Given the description of an element on the screen output the (x, y) to click on. 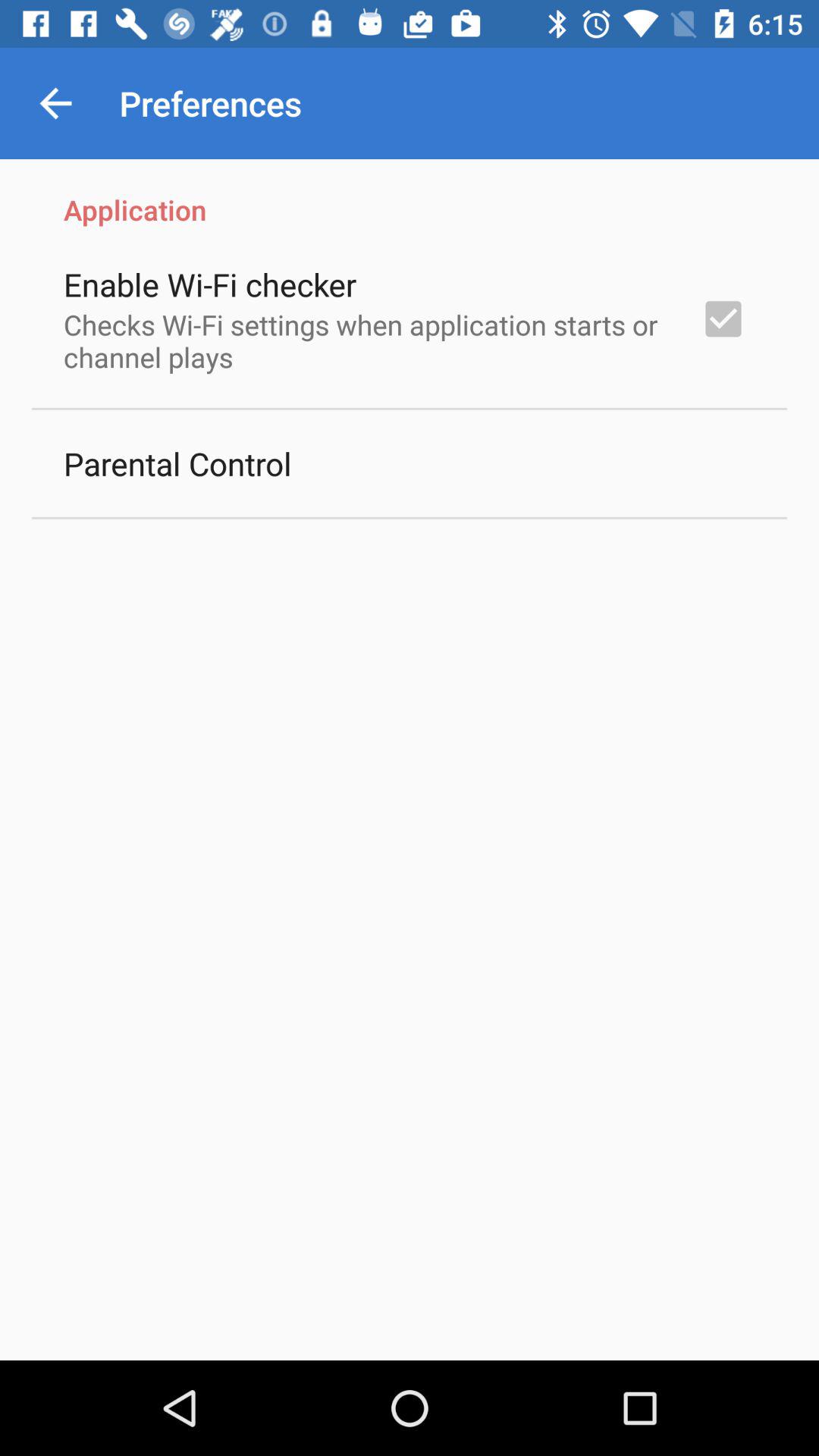
launch item to the right of the checks wi fi (723, 318)
